Given the description of an element on the screen output the (x, y) to click on. 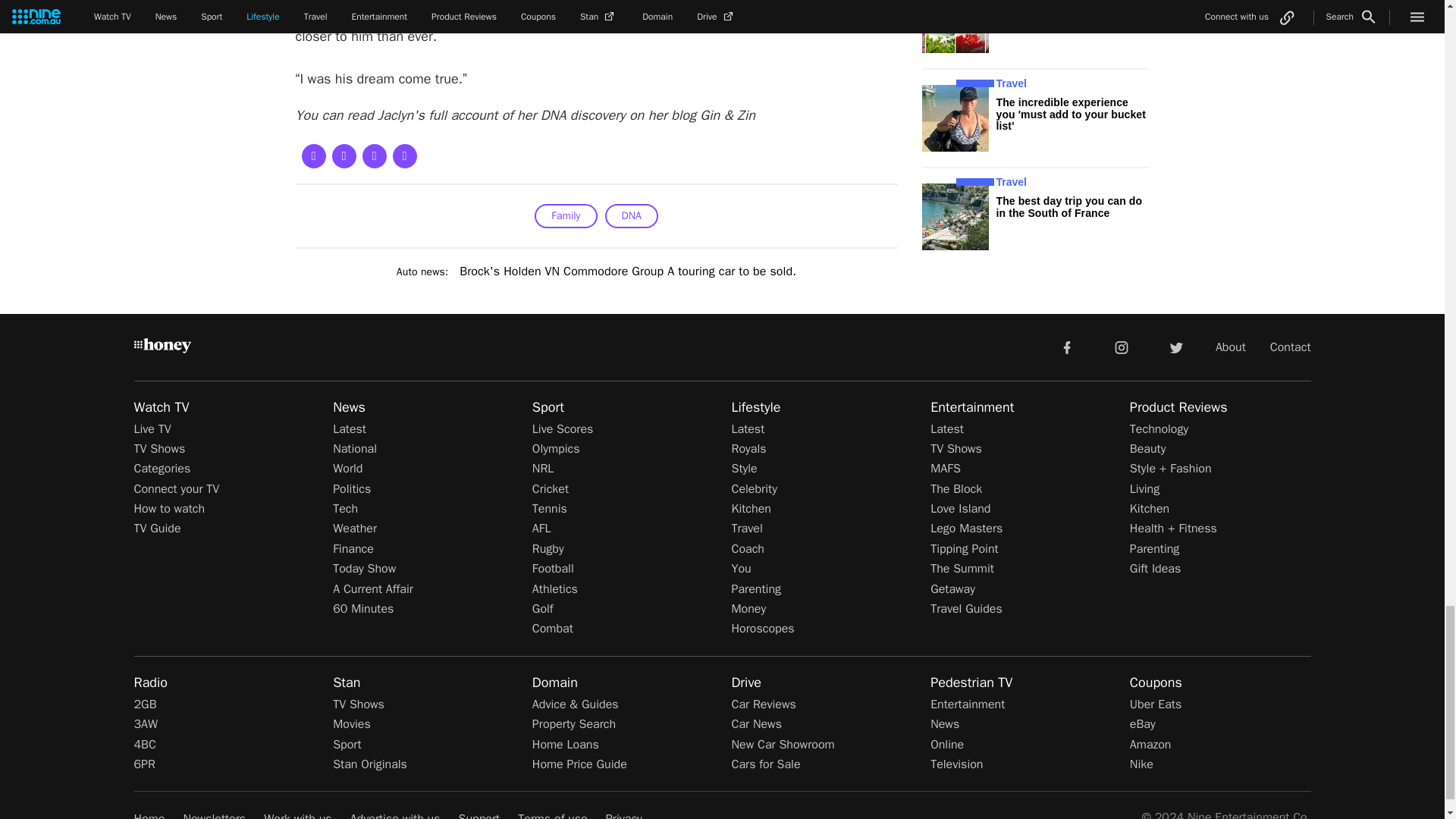
facebook (1066, 346)
instagram (1121, 346)
twitter (1175, 346)
DNA (631, 215)
Family (565, 215)
